Given the description of an element on the screen output the (x, y) to click on. 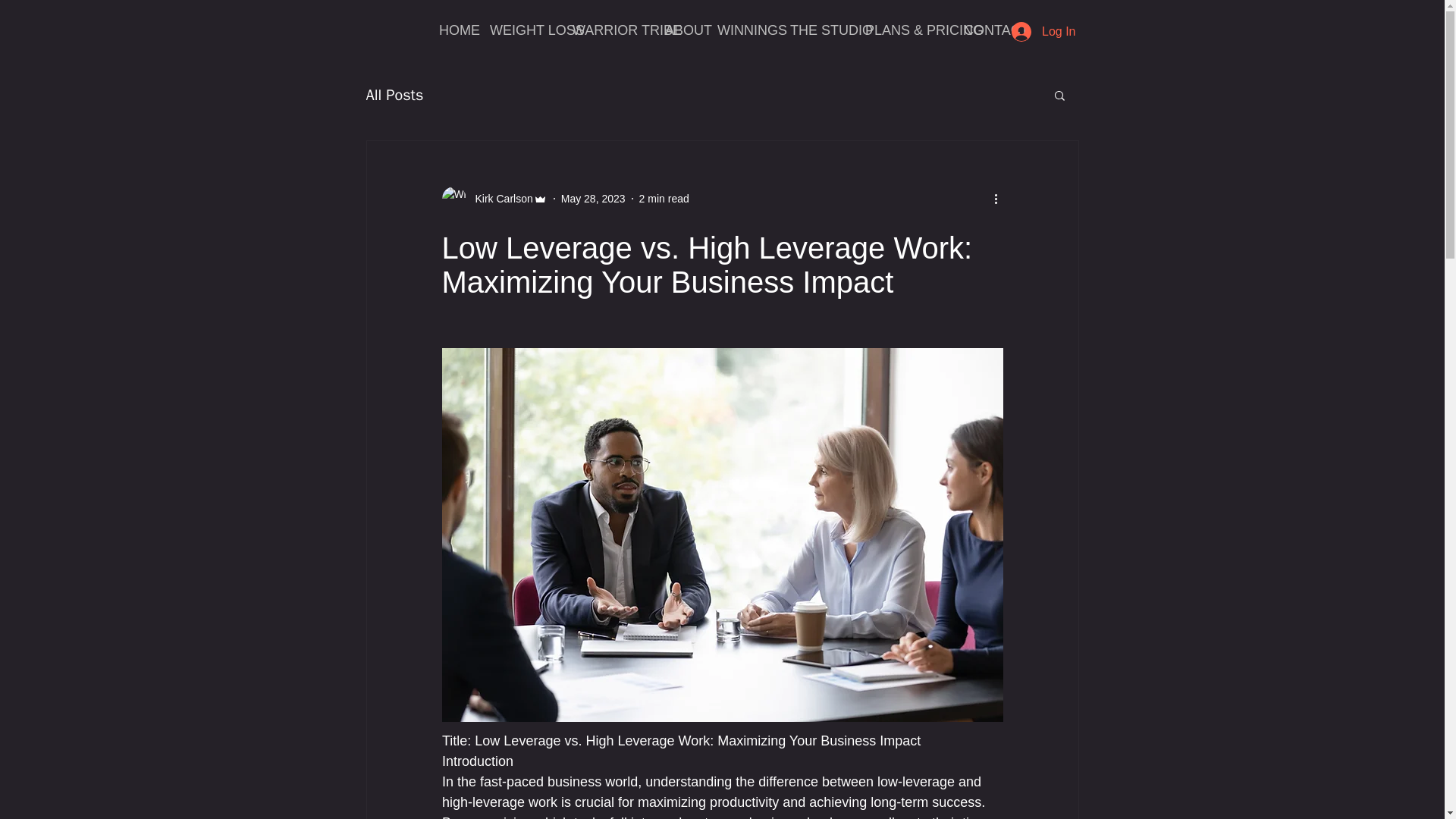
Kirk Carlson (498, 198)
May 28, 2023 (593, 198)
CONTACT (984, 30)
WINNINGS (742, 30)
THE STUDIO (815, 30)
2 min read (663, 198)
All Posts (394, 95)
Log In (1043, 31)
Kirk Carlson (494, 198)
ABOUT (679, 30)
